Given the description of an element on the screen output the (x, y) to click on. 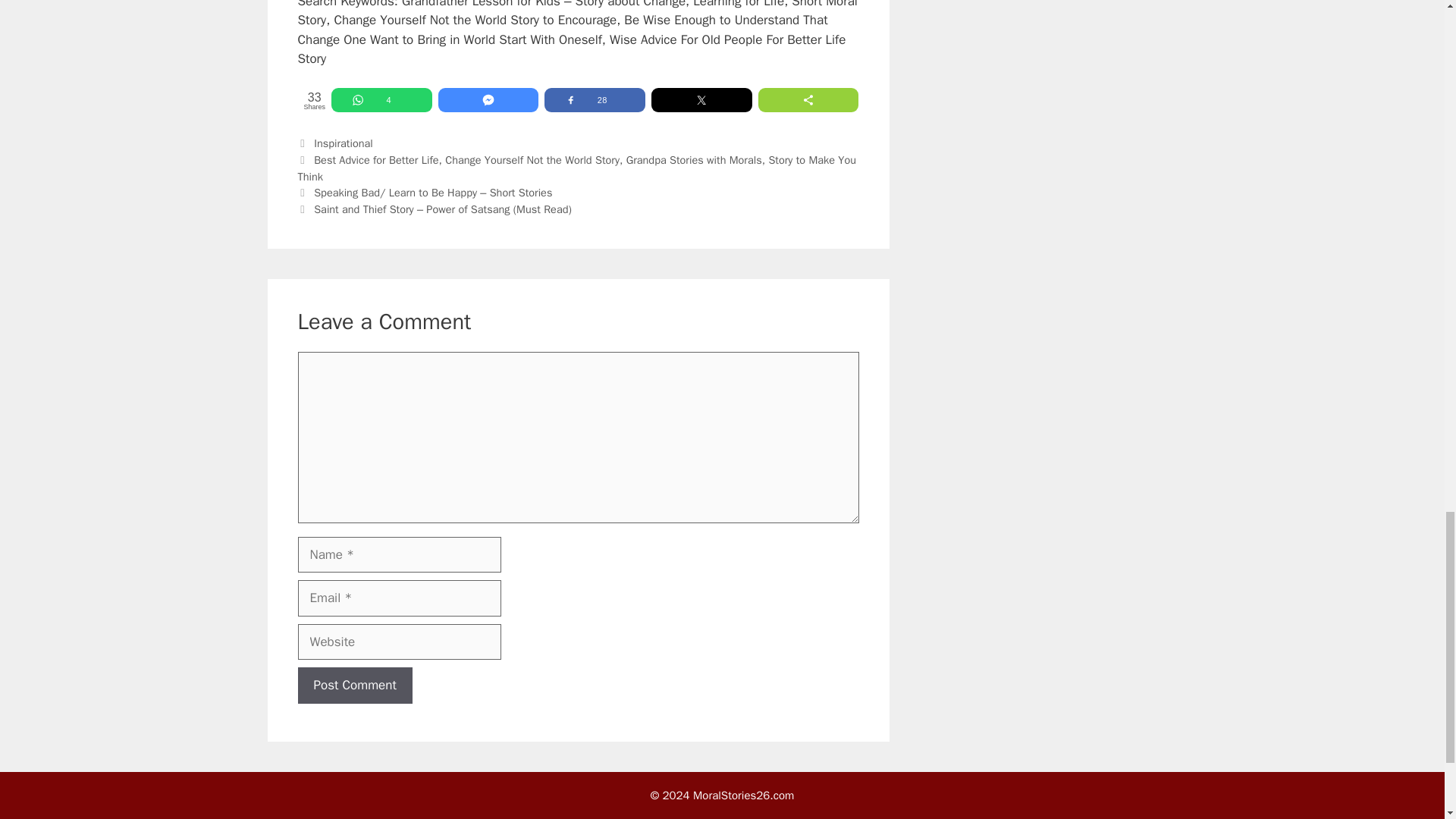
Change Yourself Not the World Story (532, 160)
Best Advice for Better Life (376, 160)
Grandpa Stories with Morals (693, 160)
Post Comment (354, 685)
Post Comment (354, 685)
Inspirational (343, 142)
Story to Make You Think (576, 168)
